Given the description of an element on the screen output the (x, y) to click on. 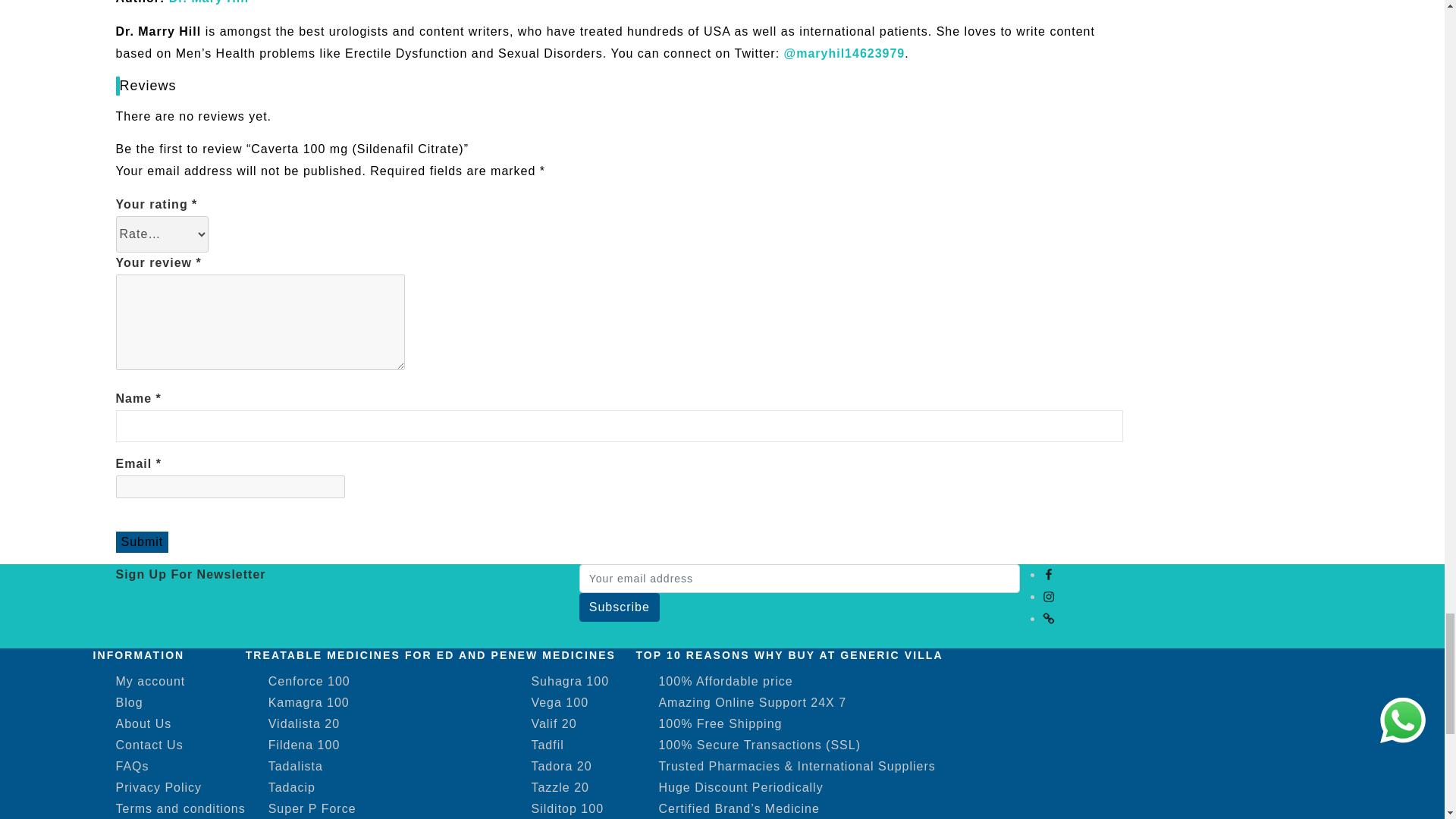
Submit (141, 541)
